Given the description of an element on the screen output the (x, y) to click on. 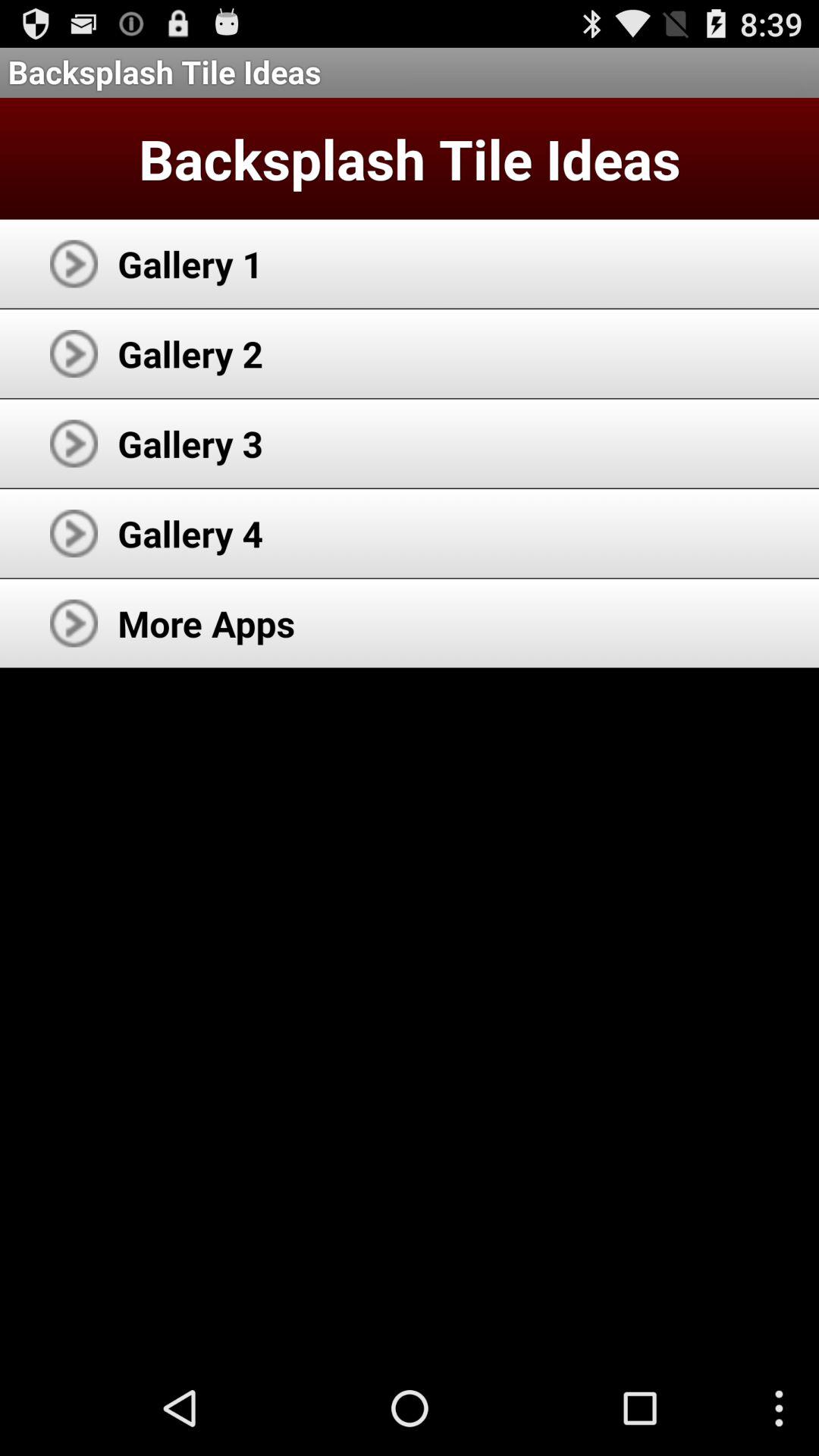
scroll until gallery 4 item (190, 533)
